Given the description of an element on the screen output the (x, y) to click on. 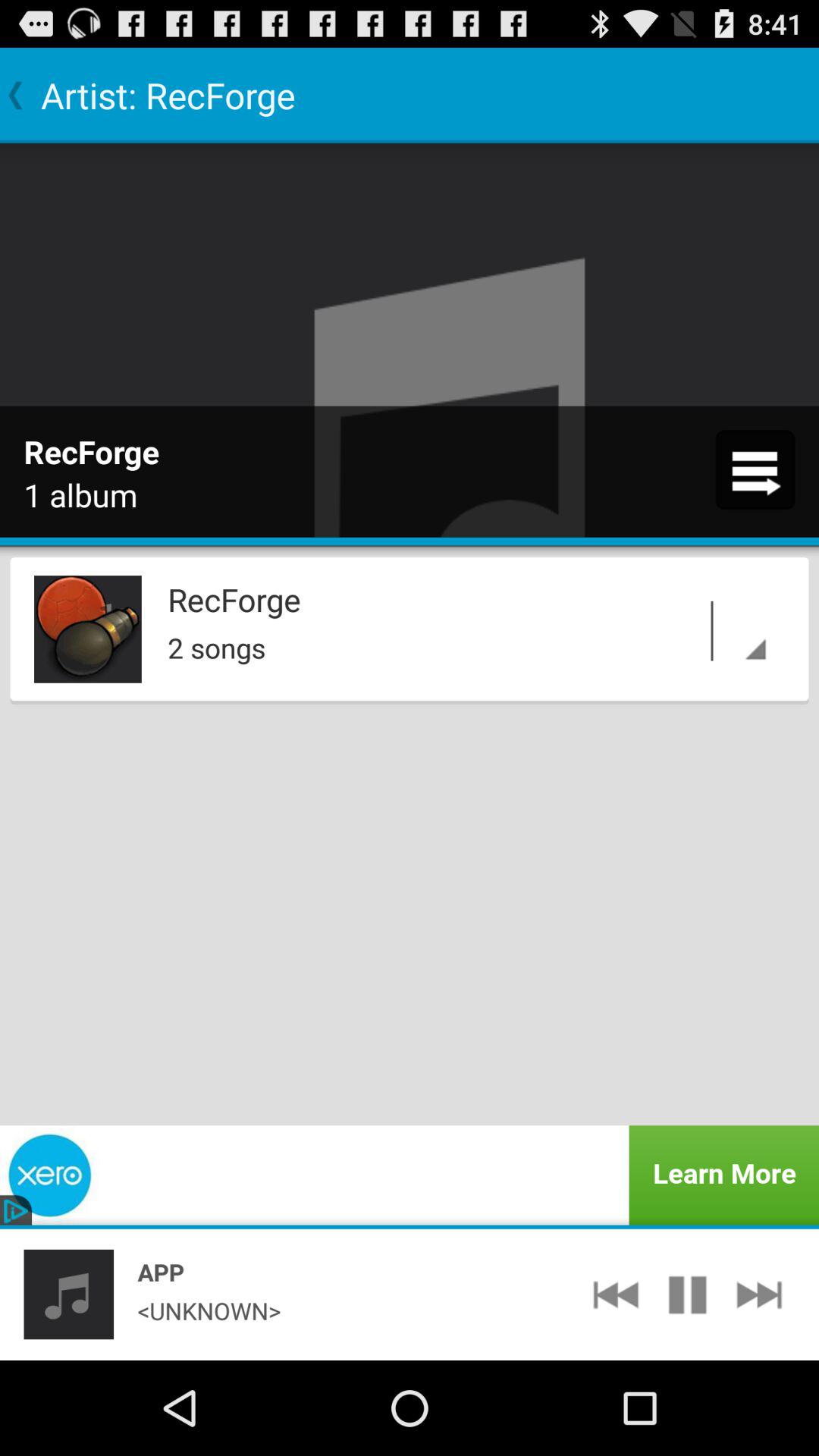
open icon to the right of 1 album
 app (755, 469)
